Given the description of an element on the screen output the (x, y) to click on. 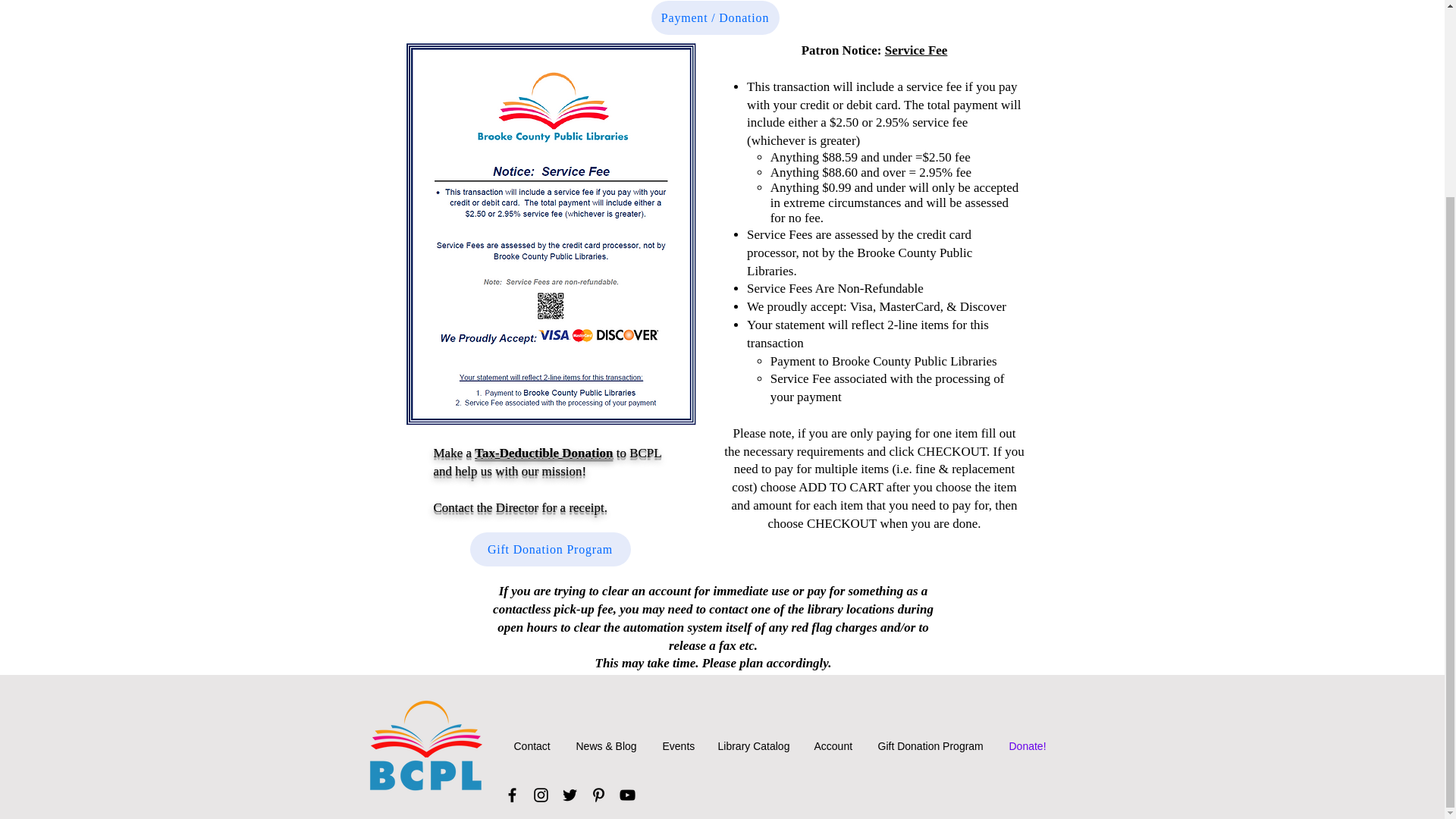
Library Catalog (754, 746)
Gift Donation Program (550, 549)
Gift Donation Program (931, 746)
Account (834, 746)
Events (678, 746)
Contact (533, 746)
